Given the description of an element on the screen output the (x, y) to click on. 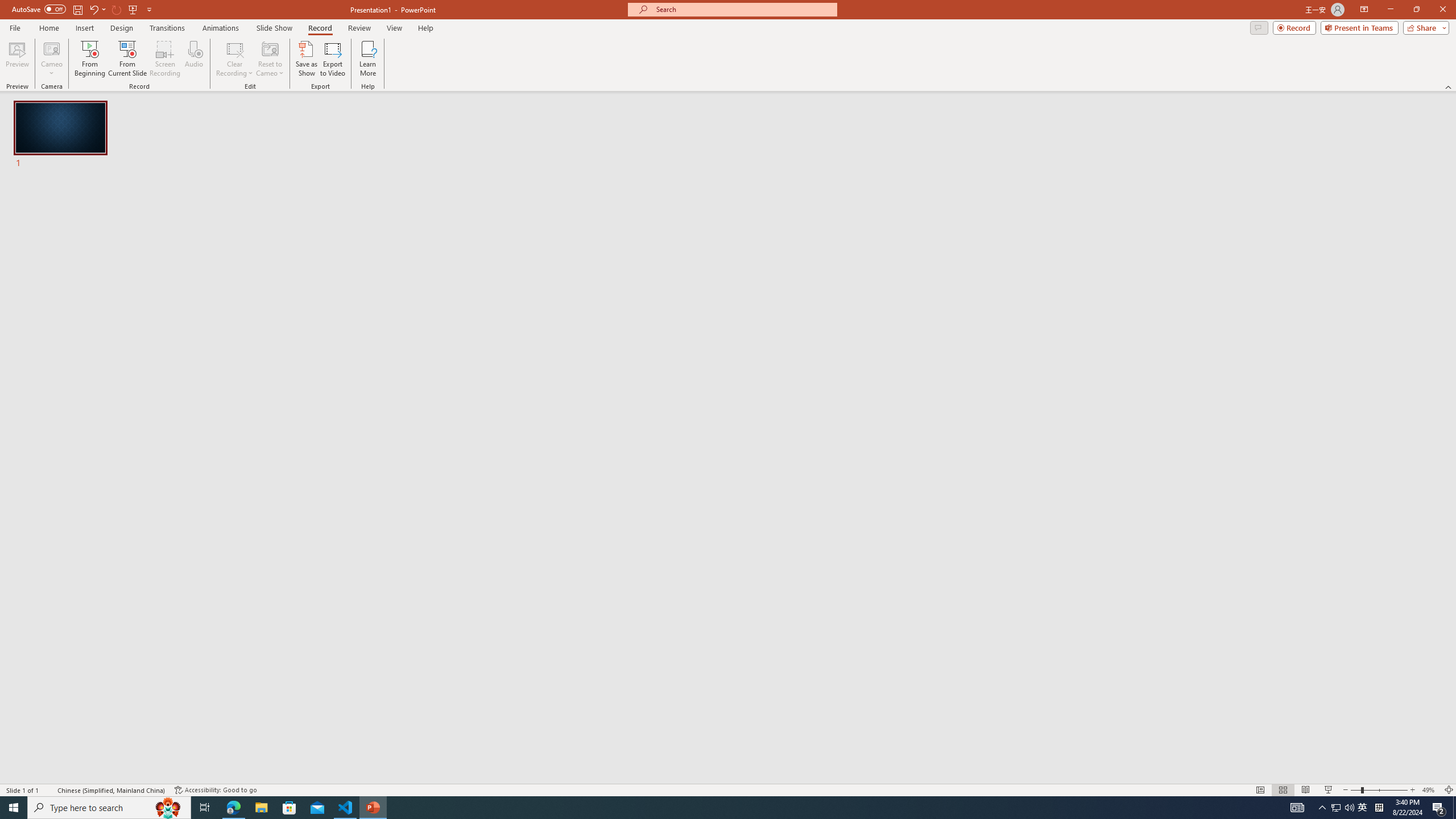
Spell Check  (49, 790)
